Given the description of an element on the screen output the (x, y) to click on. 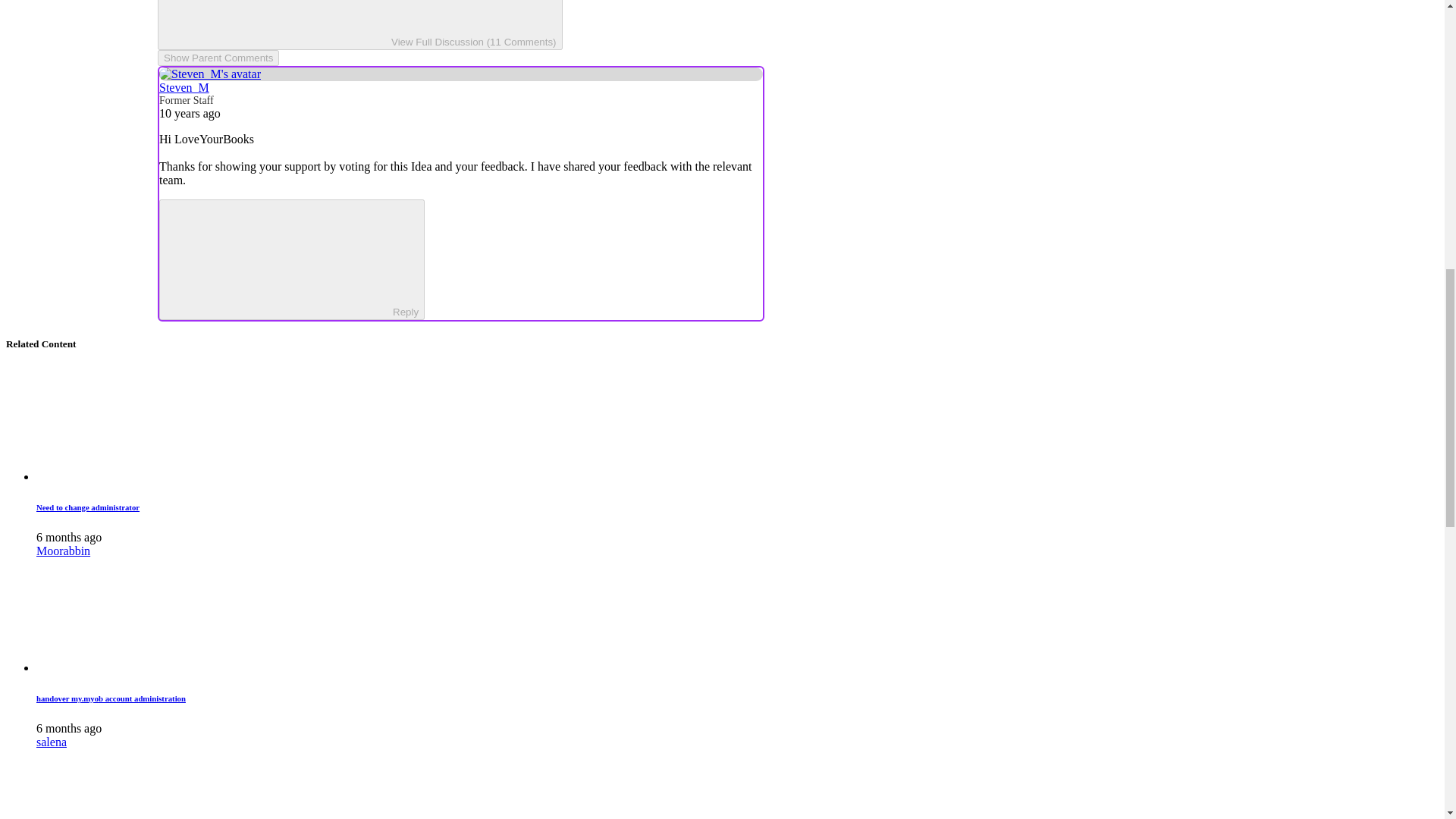
February 9, 2024 at 3:33 AM (68, 536)
handover my.myob account administration (111, 697)
December 7, 2014 at 9:15 PM (189, 113)
ReplyReply (291, 259)
Moorabbin (63, 550)
Need to change administrator (87, 506)
salena (51, 741)
Show Parent Comments (218, 57)
LoveYourBooks (213, 138)
February 5, 2024 at 9:30 AM (68, 727)
Reply (279, 258)
